Given the description of an element on the screen output the (x, y) to click on. 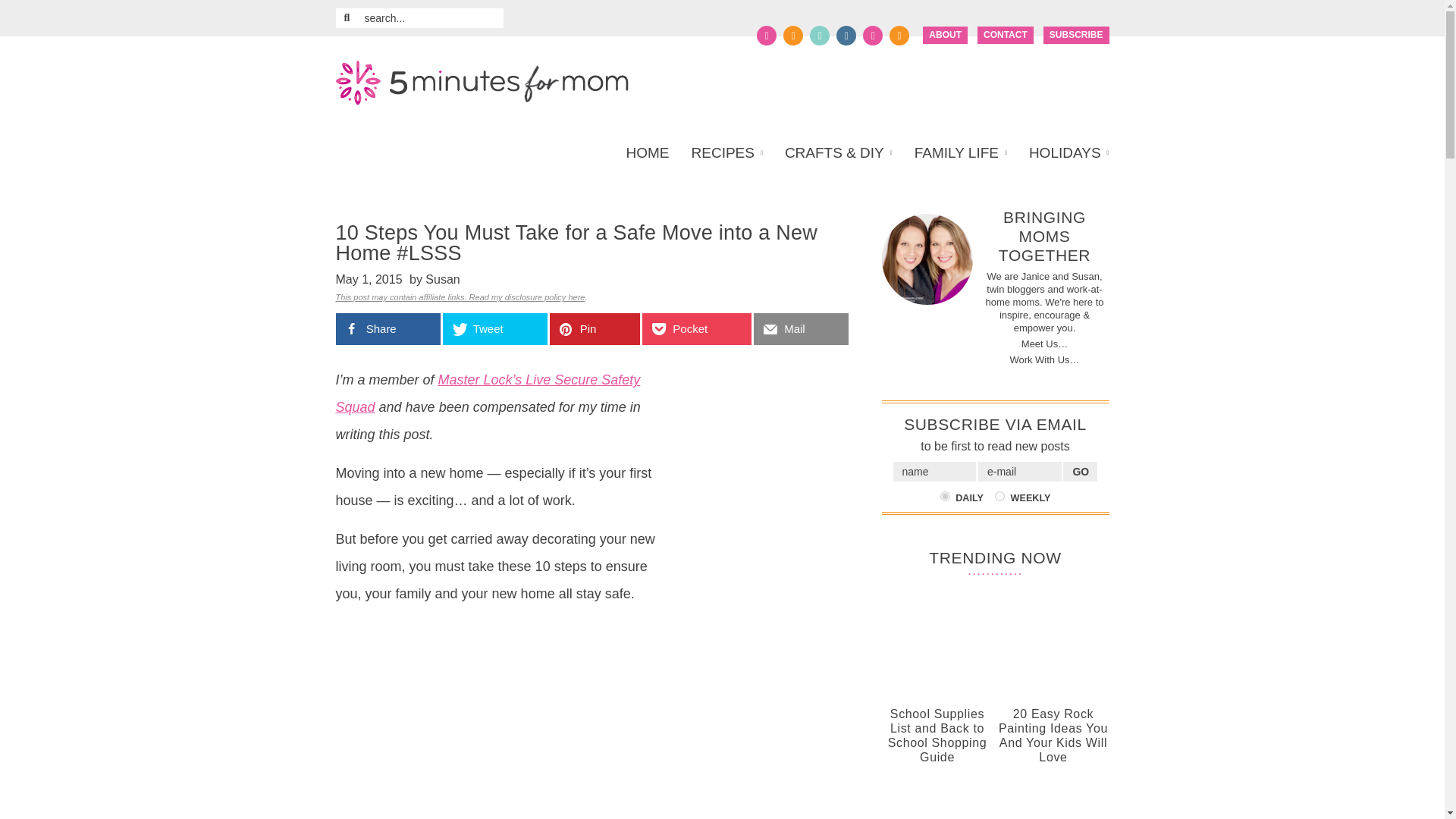
HOME (652, 153)
Daily (945, 496)
Follow 5 Minutes For Mom via RSS (898, 35)
Follow 5 Minutes For Mom on Pinterest (819, 35)
CONTACT (1004, 35)
5 Minutes for Mom (480, 82)
Follow 5 Minutes For Mom on Twitter (793, 35)
ABOUT (945, 35)
Go (1079, 471)
Weekly (999, 496)
Follow 5 Minutes For Mom on Instagram (845, 35)
Follow 5 Minutes For Mom on YouTube (872, 35)
RECIPES (726, 153)
Follow 5 Minutes For Mom on Facebook (766, 35)
